Given the description of an element on the screen output the (x, y) to click on. 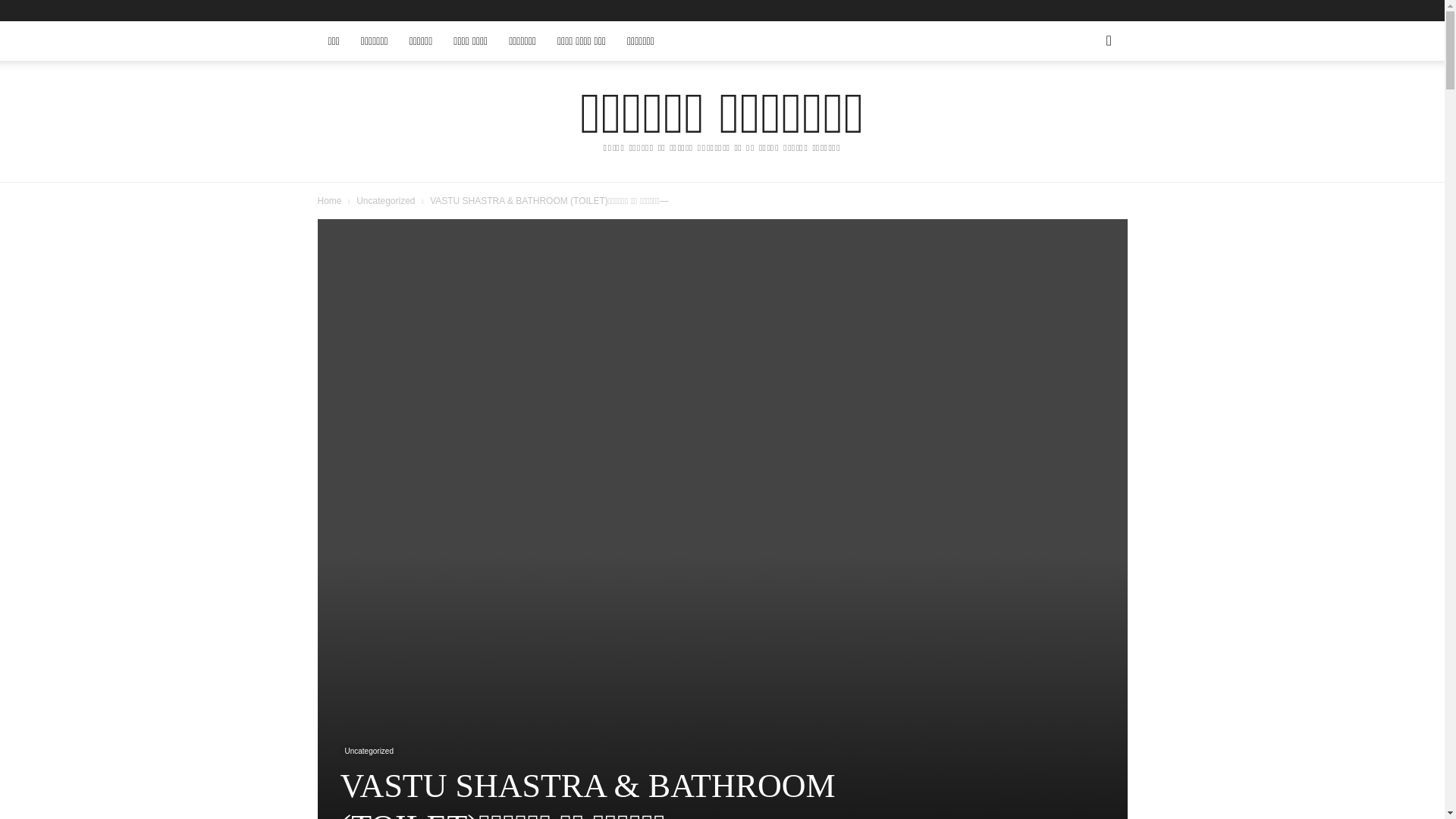
Home (328, 200)
View all posts in Uncategorized (385, 200)
Uncategorized (368, 751)
Search (1085, 102)
Uncategorized (385, 200)
